Given the description of an element on the screen output the (x, y) to click on. 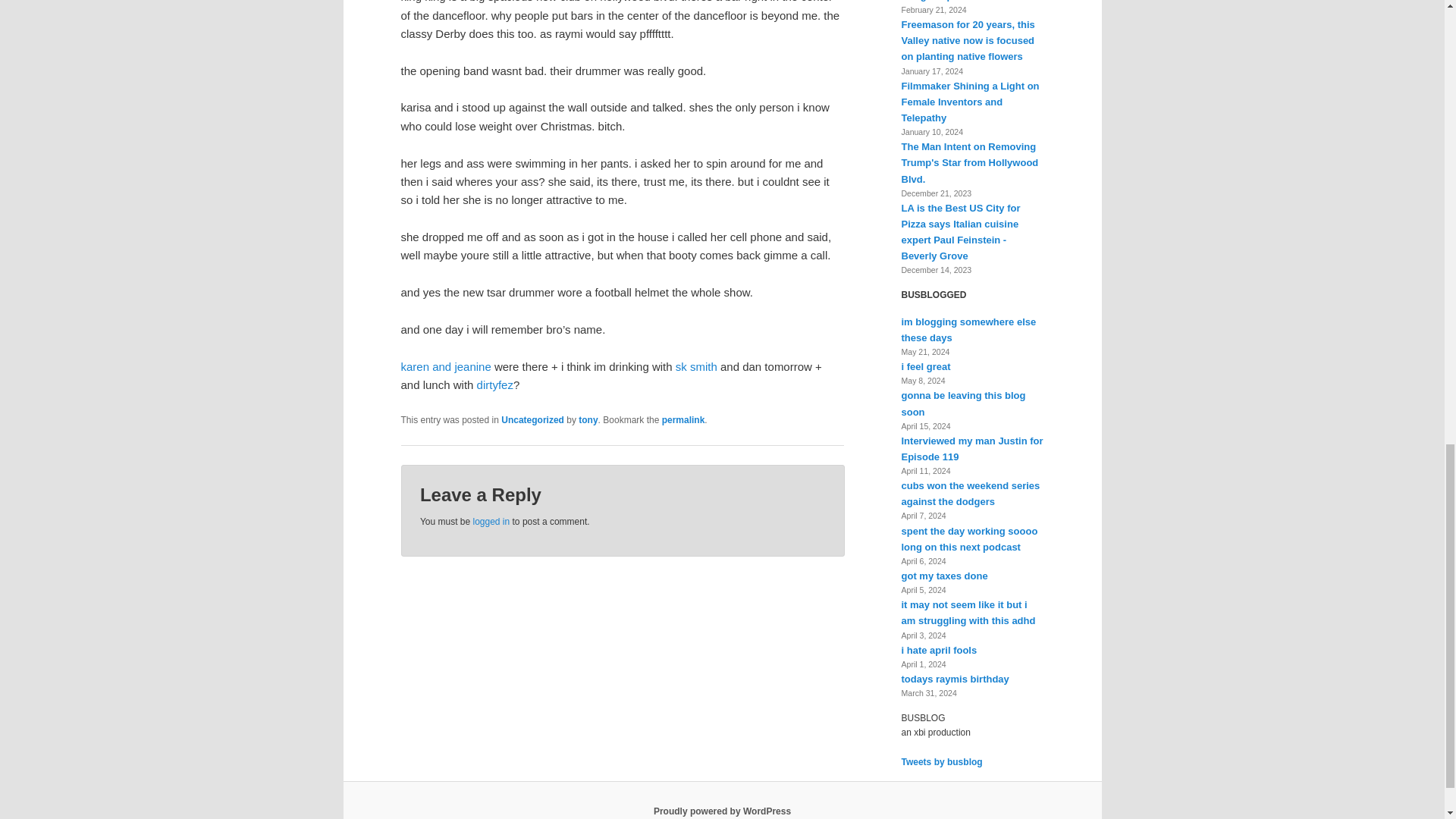
dirtyfez (495, 384)
Permalink to tsar (683, 419)
sk smith (696, 366)
karen and jeanine (445, 366)
logged in (490, 521)
Uncategorized (532, 419)
tony (587, 419)
permalink (683, 419)
Semantic Personal Publishing Platform (721, 810)
